Given the description of an element on the screen output the (x, y) to click on. 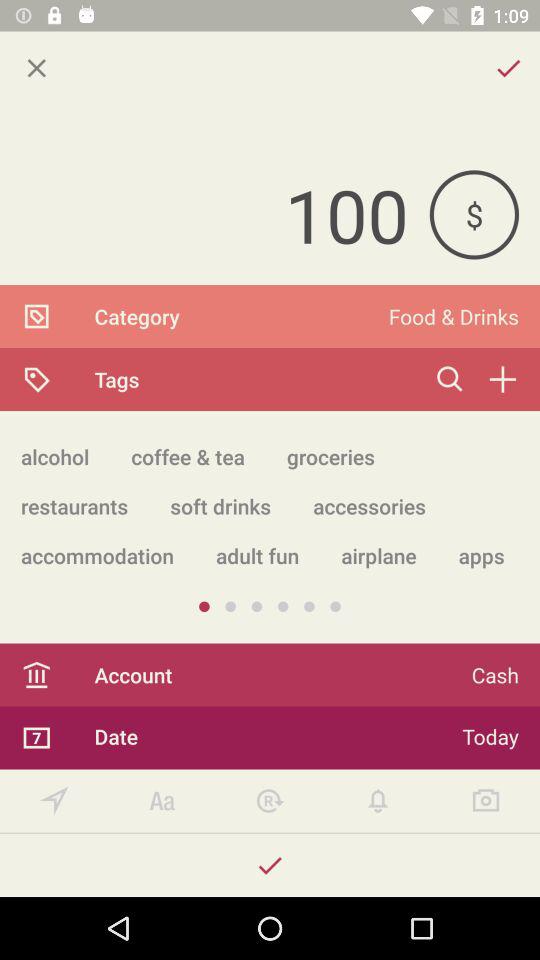
tap alcohol app (55, 456)
